Given the description of an element on the screen output the (x, y) to click on. 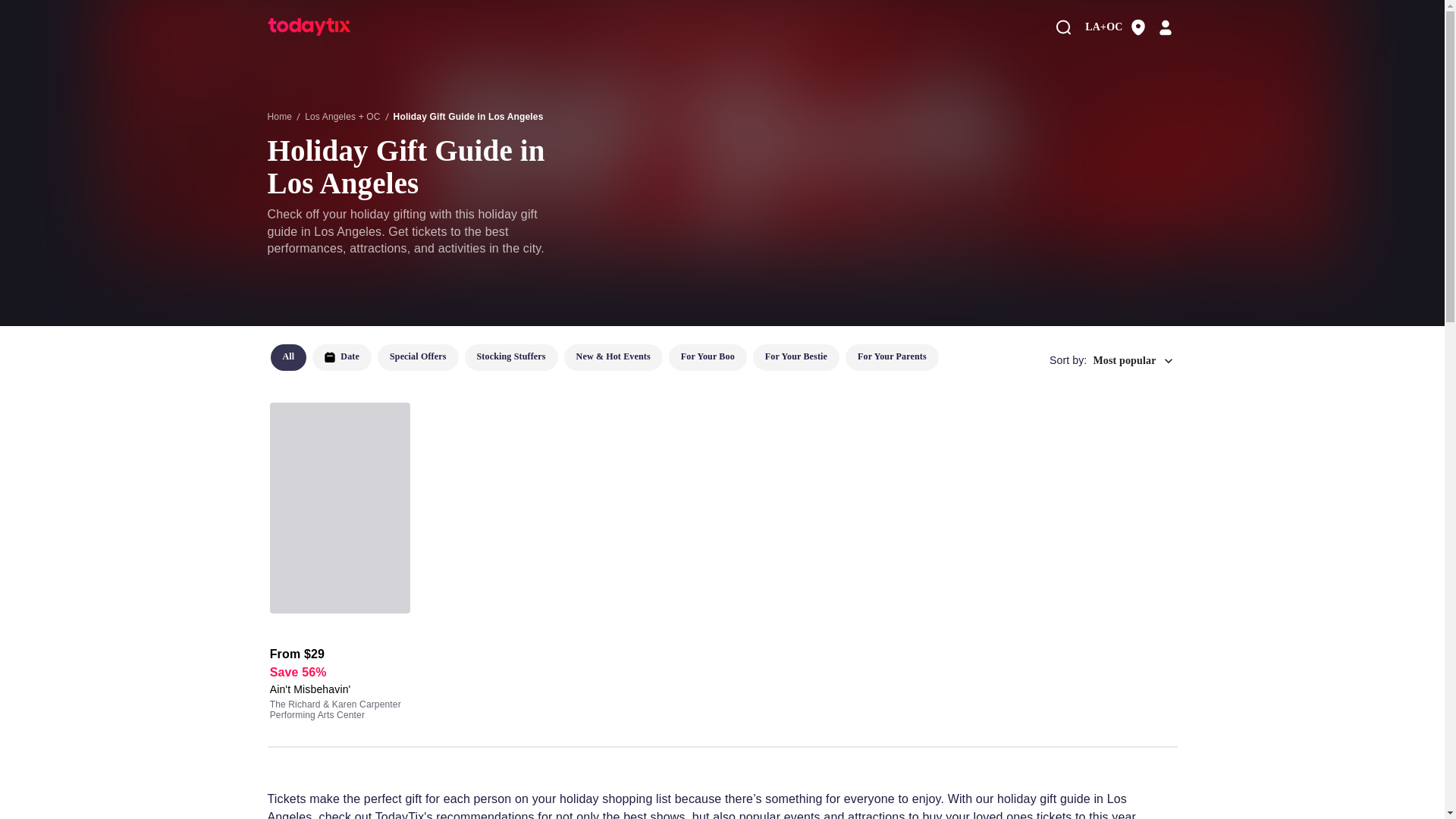
Stocking Stuffers (510, 357)
For Your Bestie (796, 357)
For Your Boo (707, 357)
Date (342, 357)
For Your Parents (892, 357)
Home (279, 116)
Special Offers (417, 357)
Holiday Gift Guide in Los Angeles (468, 116)
All (287, 357)
